Given the description of an element on the screen output the (x, y) to click on. 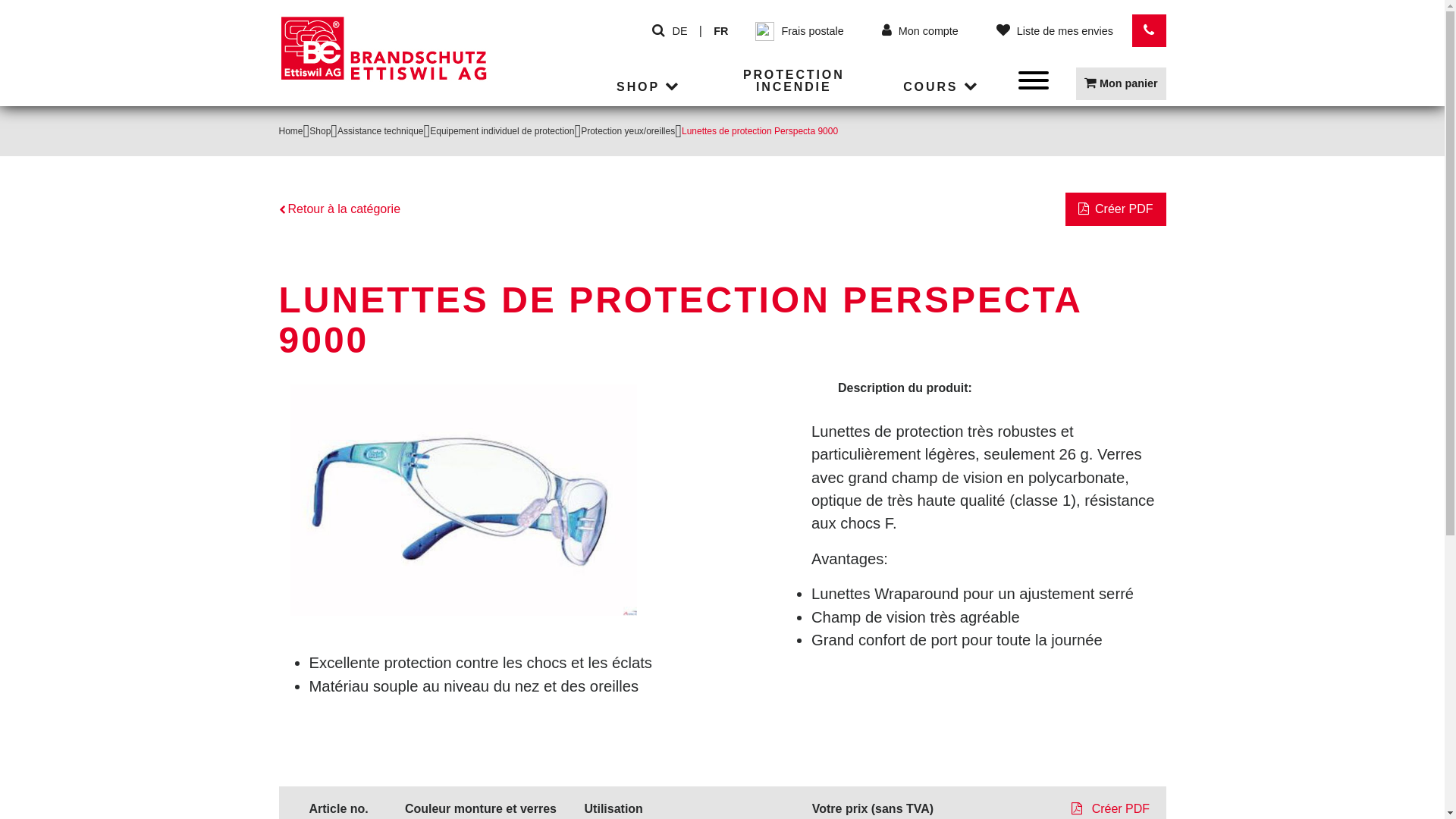
DE Element type: text (680, 30)
Shop Element type: text (319, 131)
Assistance technique Element type: text (380, 131)
Mon compte Element type: text (919, 30)
Liste de mes envies Element type: text (1054, 30)
Lunettes de protection Perspecta 9000 Element type: hover (462, 500)
Frais postale Element type: text (799, 29)
Mon panier Element type: text (1121, 83)
Equipement individuel de protection Element type: text (501, 131)
Magento Commerce Element type: hover (384, 60)
Home Element type: text (291, 131)
Magento Commerce Element type: hover (384, 47)
FR Element type: text (720, 30)
PROTECTION INCENDIE Element type: text (793, 82)
Protection yeux/oreilles Element type: text (627, 131)
COURS Element type: text (942, 87)
SHOP Element type: text (650, 87)
Chercher Element type: hover (658, 30)
